Given the description of an element on the screen output the (x, y) to click on. 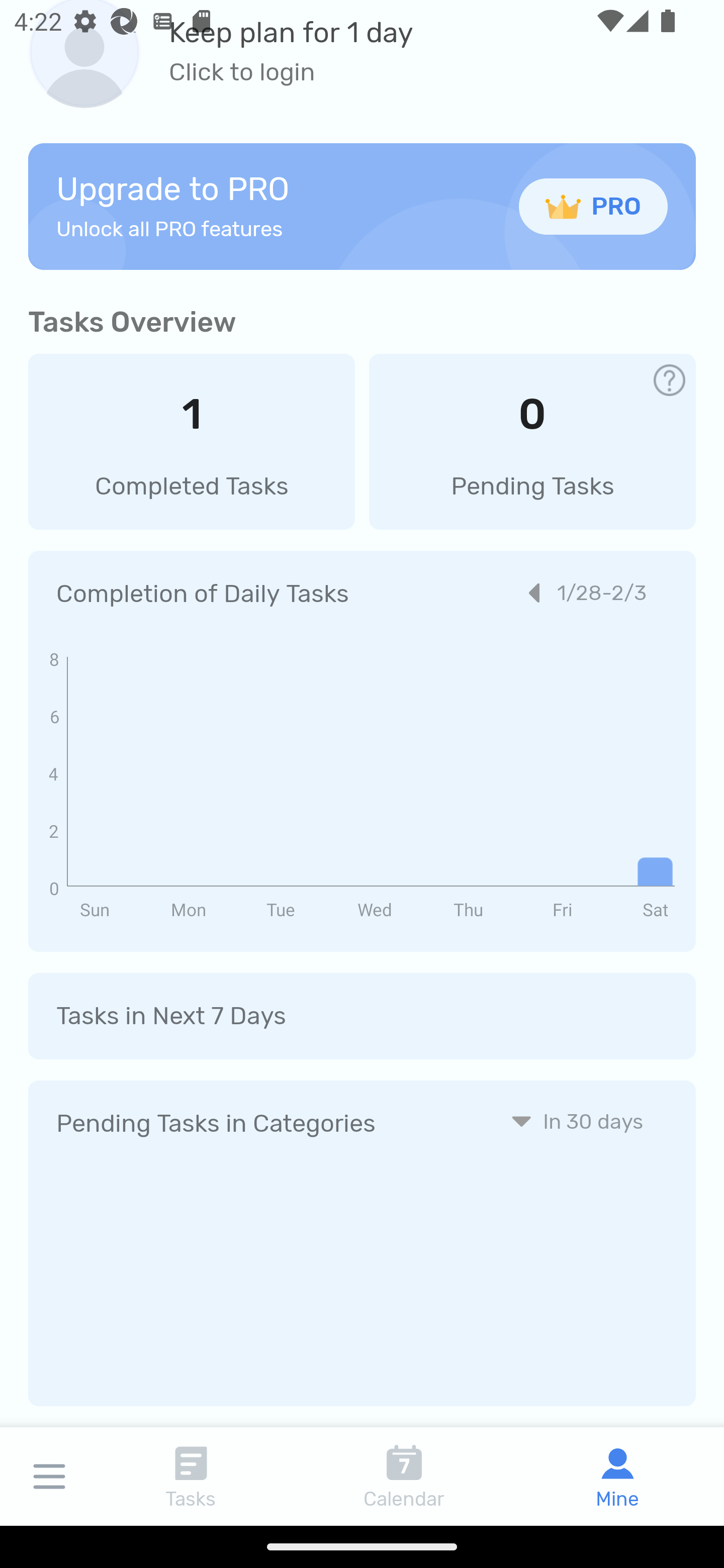
Click to login (291, 72)
Upgrade to PRO Unlock all PRO features PRO (361, 205)
In 30 days (577, 1120)
Tasks (190, 1475)
Calendar (404, 1475)
Mine (617, 1475)
